Given the description of an element on the screen output the (x, y) to click on. 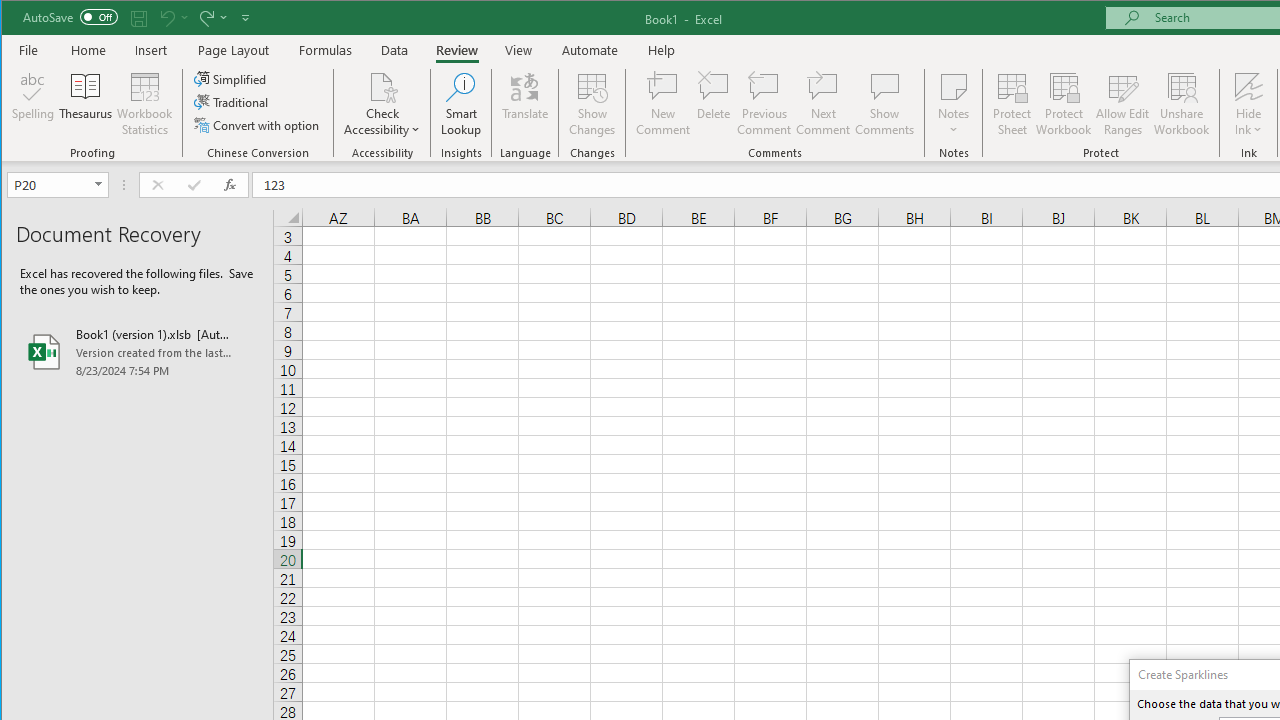
Show Comments (884, 104)
Next Comment (822, 104)
Protect Sheet... (1012, 104)
Allow Edit Ranges (1123, 104)
Previous Comment (763, 104)
Spelling... (33, 104)
Unshare Workbook (1182, 104)
